Given the description of an element on the screen output the (x, y) to click on. 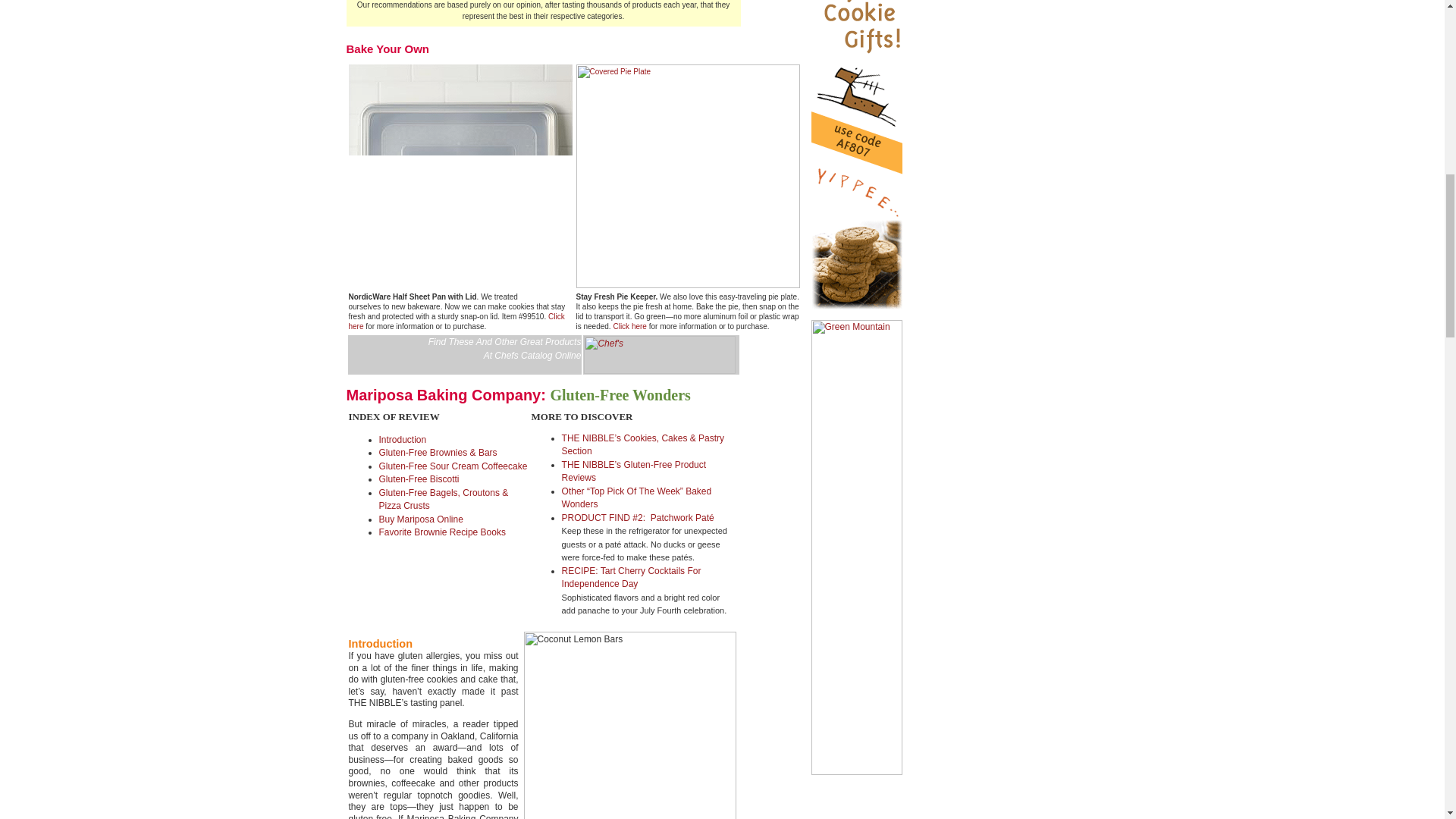
Click here (629, 326)
Gluten-Free Sour Cream Coffeecake (452, 466)
Gluten-Free Biscotti (419, 479)
Click here (456, 321)
Introduction (402, 439)
